Given the description of an element on the screen output the (x, y) to click on. 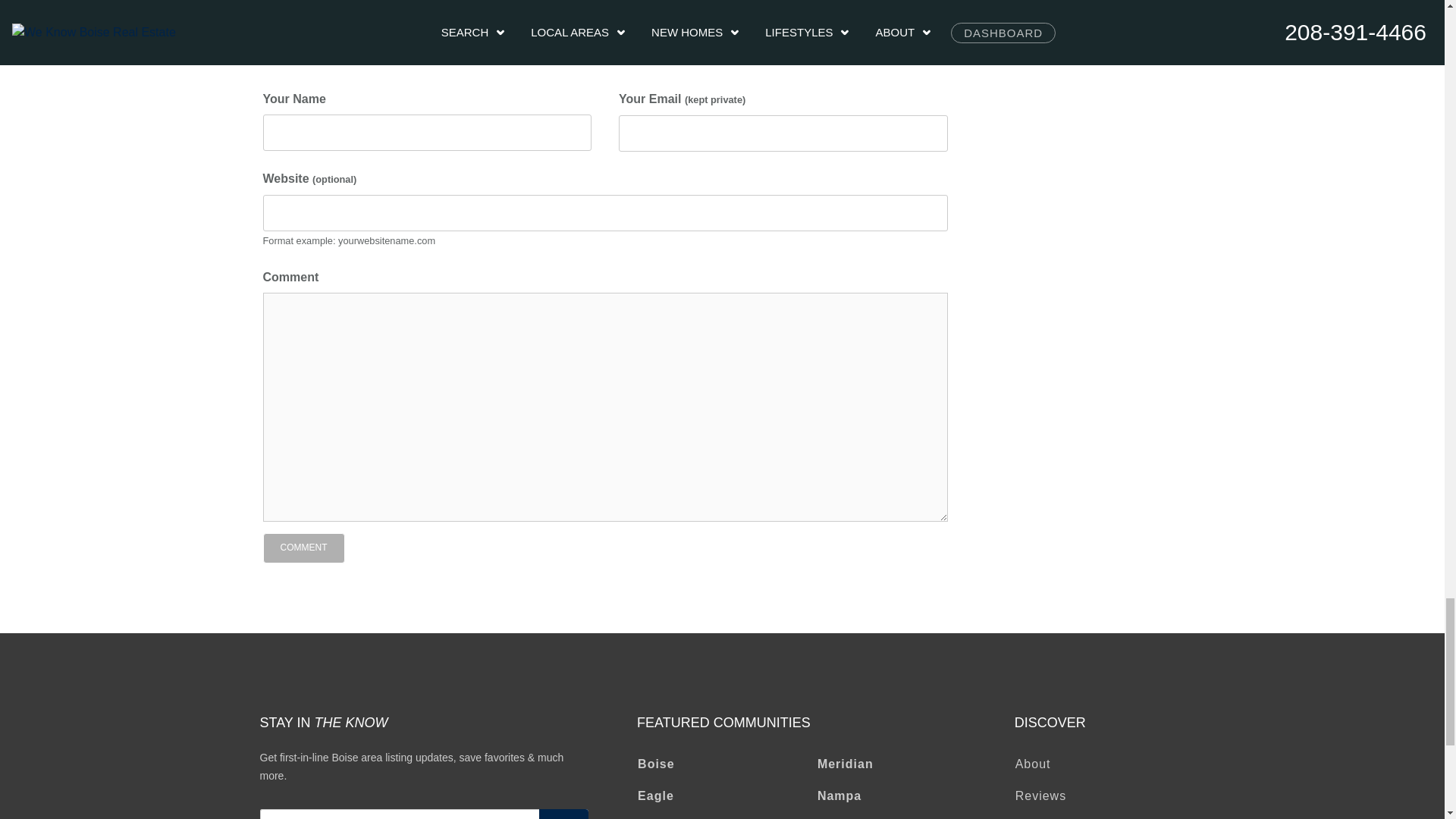
Opens new window with print ready page (293, 2)
Opens new window with social share options (361, 2)
